Given the description of an element on the screen output the (x, y) to click on. 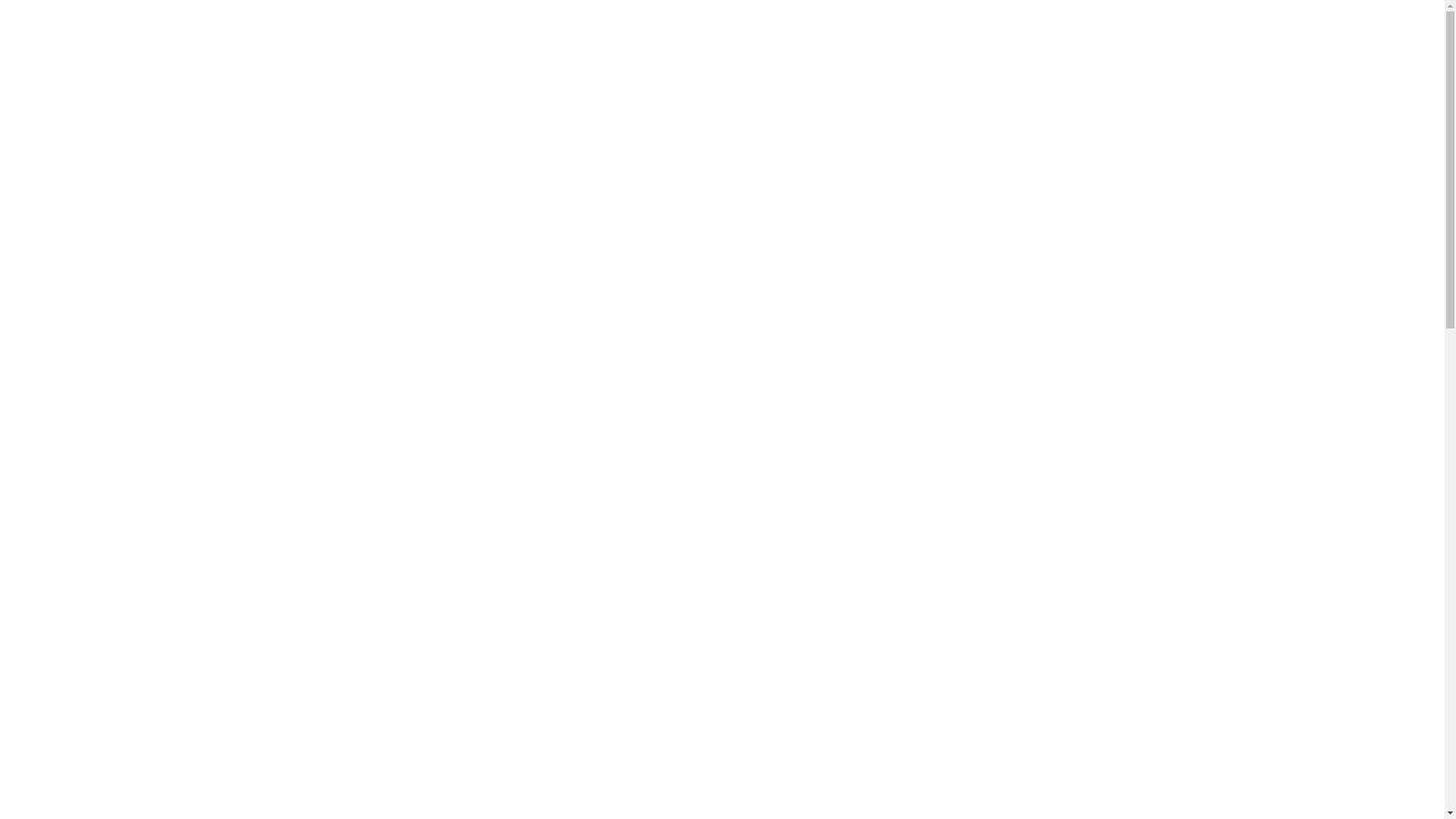
whatsapp Element type: hover (662, 215)
telegram Element type: hover (649, 177)
viber Element type: hover (634, 215)
whatsapp Element type: hover (662, 177)
viber Element type: hover (634, 177)
telegram Element type: hover (649, 215)
